Given the description of an element on the screen output the (x, y) to click on. 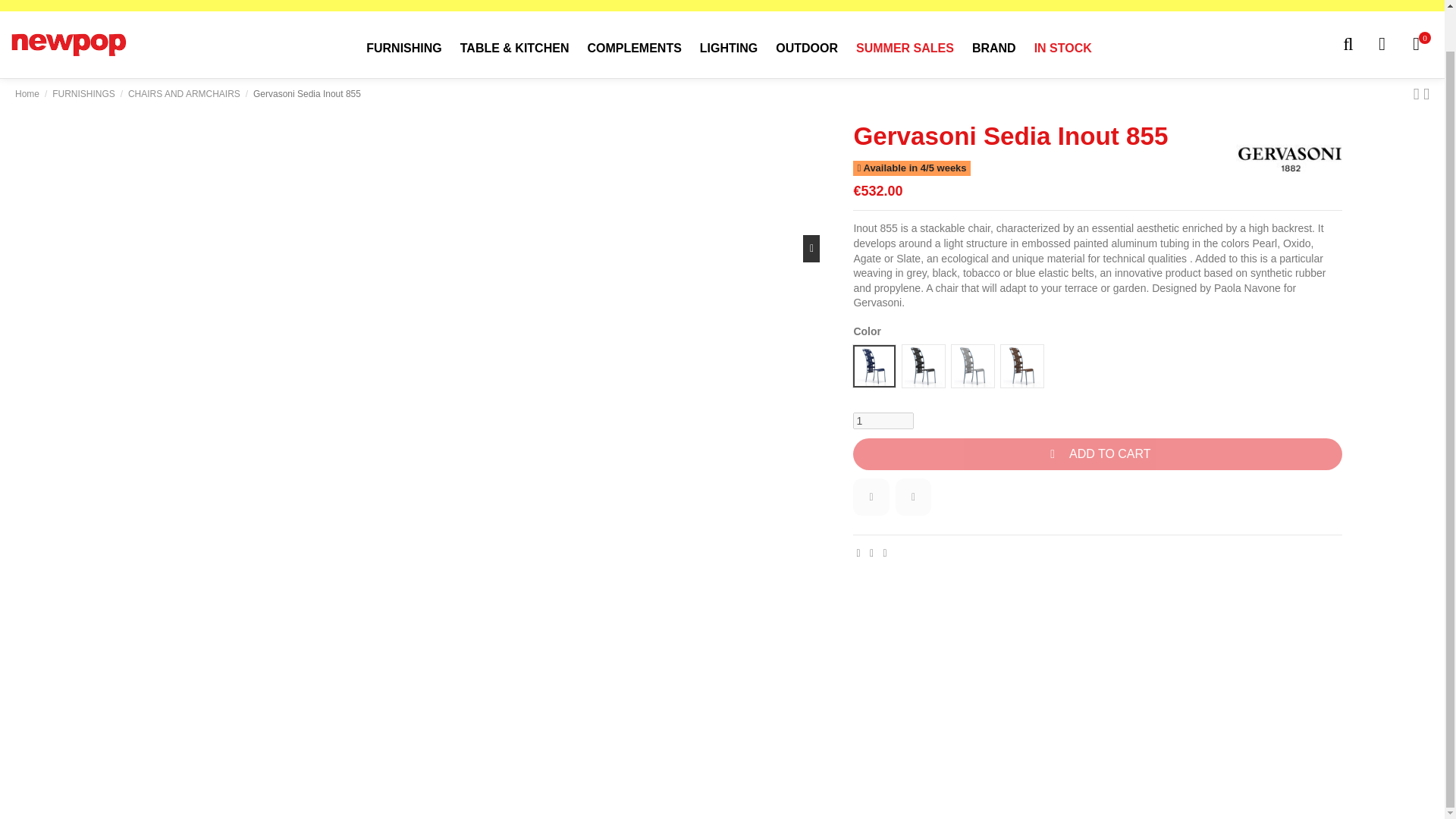
FURNISHING (403, 48)
1 (883, 420)
